Given the description of an element on the screen output the (x, y) to click on. 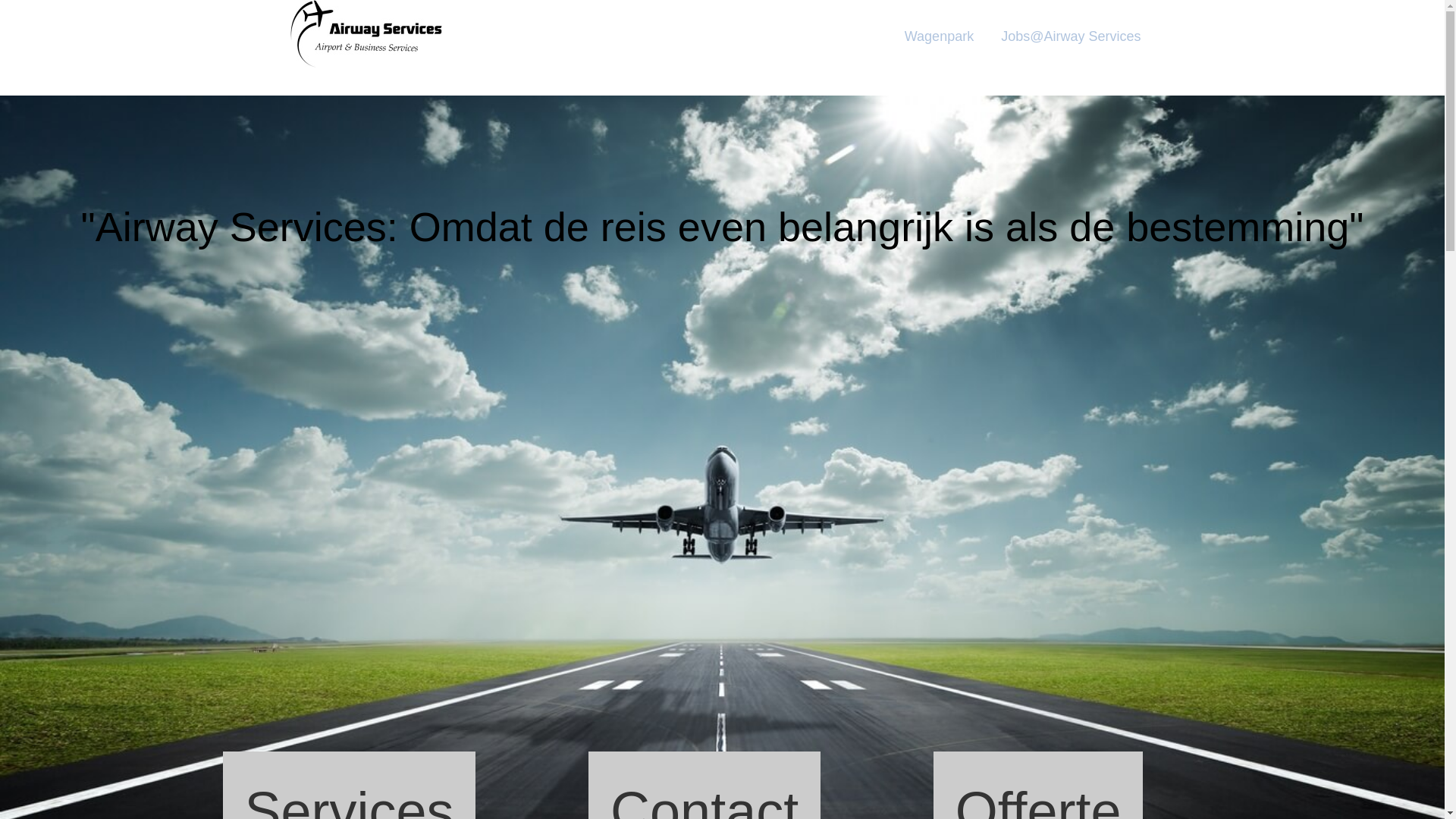
Airway Element type: text (405, 47)
